Given the description of an element on the screen output the (x, y) to click on. 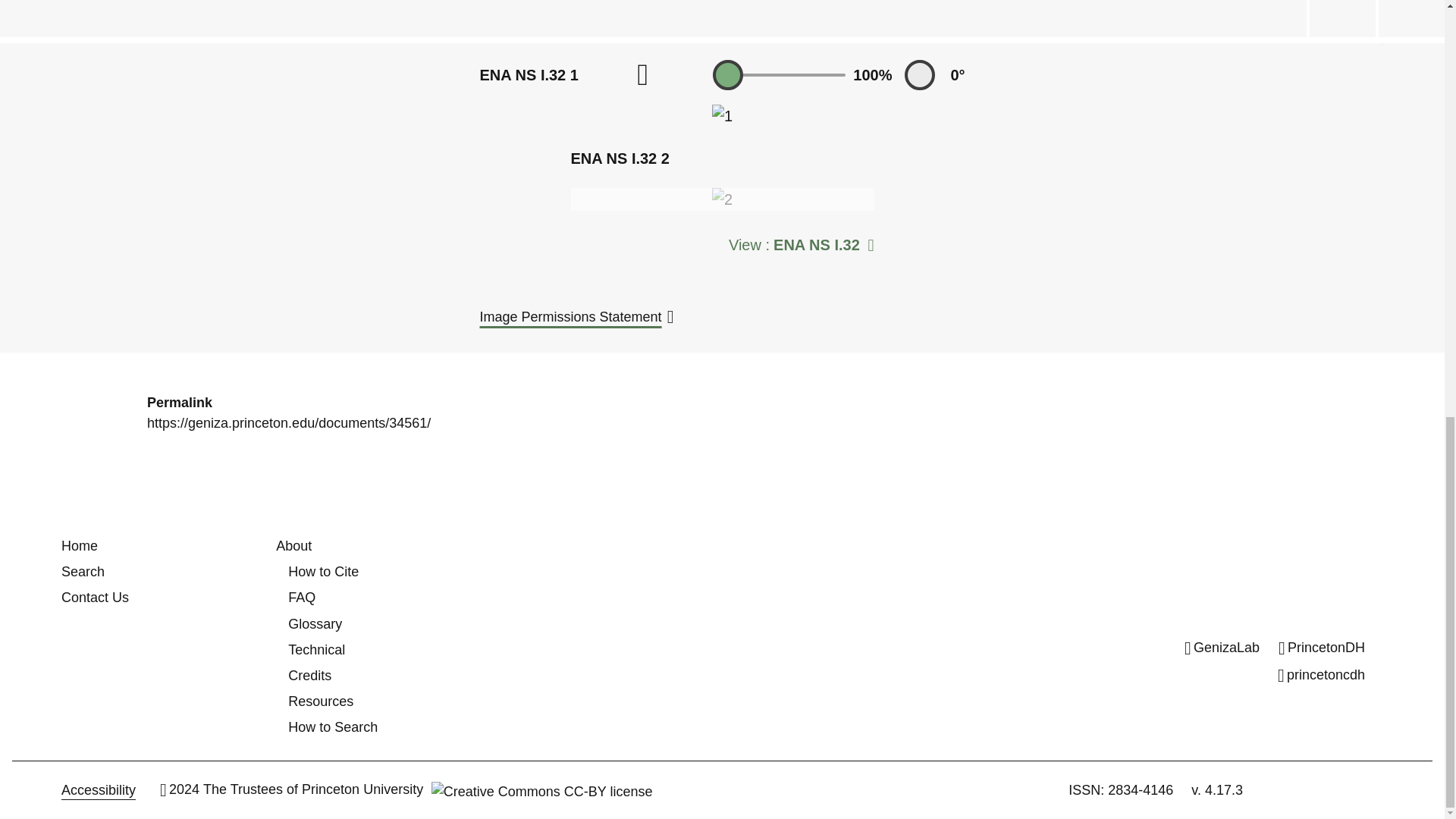
1 (721, 115)
How to Cite (323, 571)
FAQ (301, 597)
1 (779, 74)
Search (82, 571)
How to Search (332, 726)
Glossary (315, 623)
2 (721, 199)
Home (79, 545)
